Given the description of an element on the screen output the (x, y) to click on. 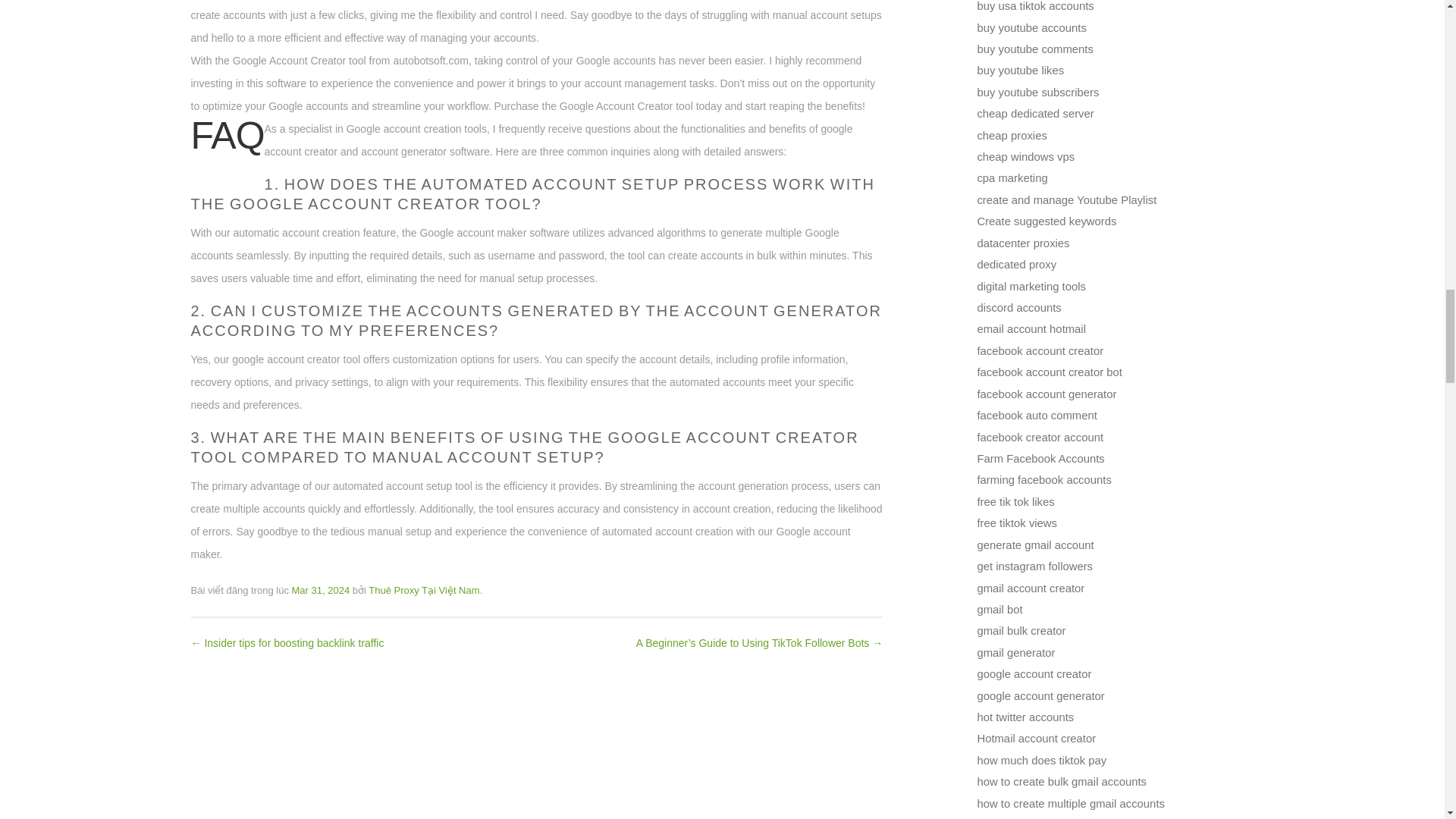
Mar 31, 2024 (321, 590)
